Given the description of an element on the screen output the (x, y) to click on. 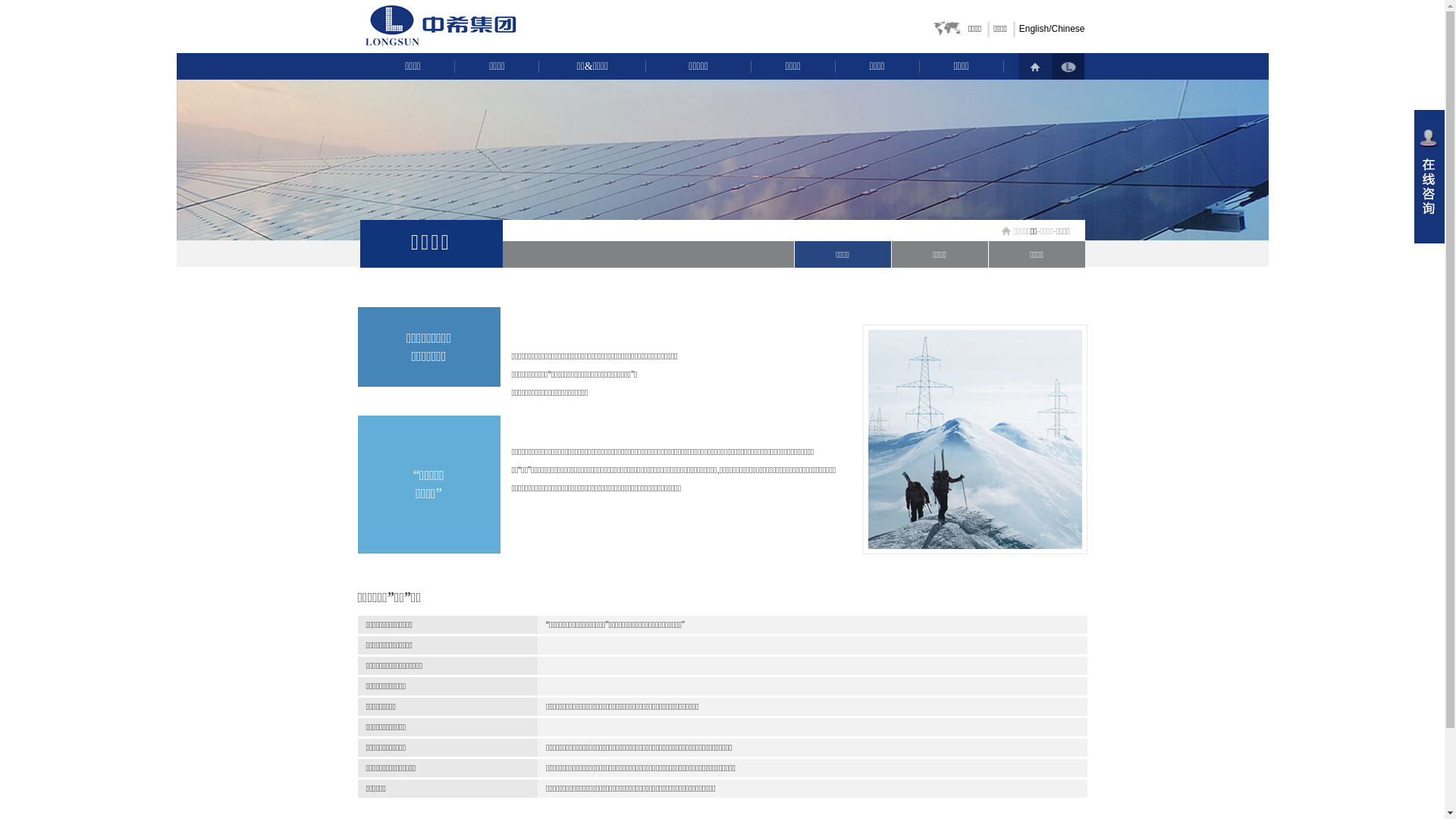
English Element type: text (1033, 28)
